Given the description of an element on the screen output the (x, y) to click on. 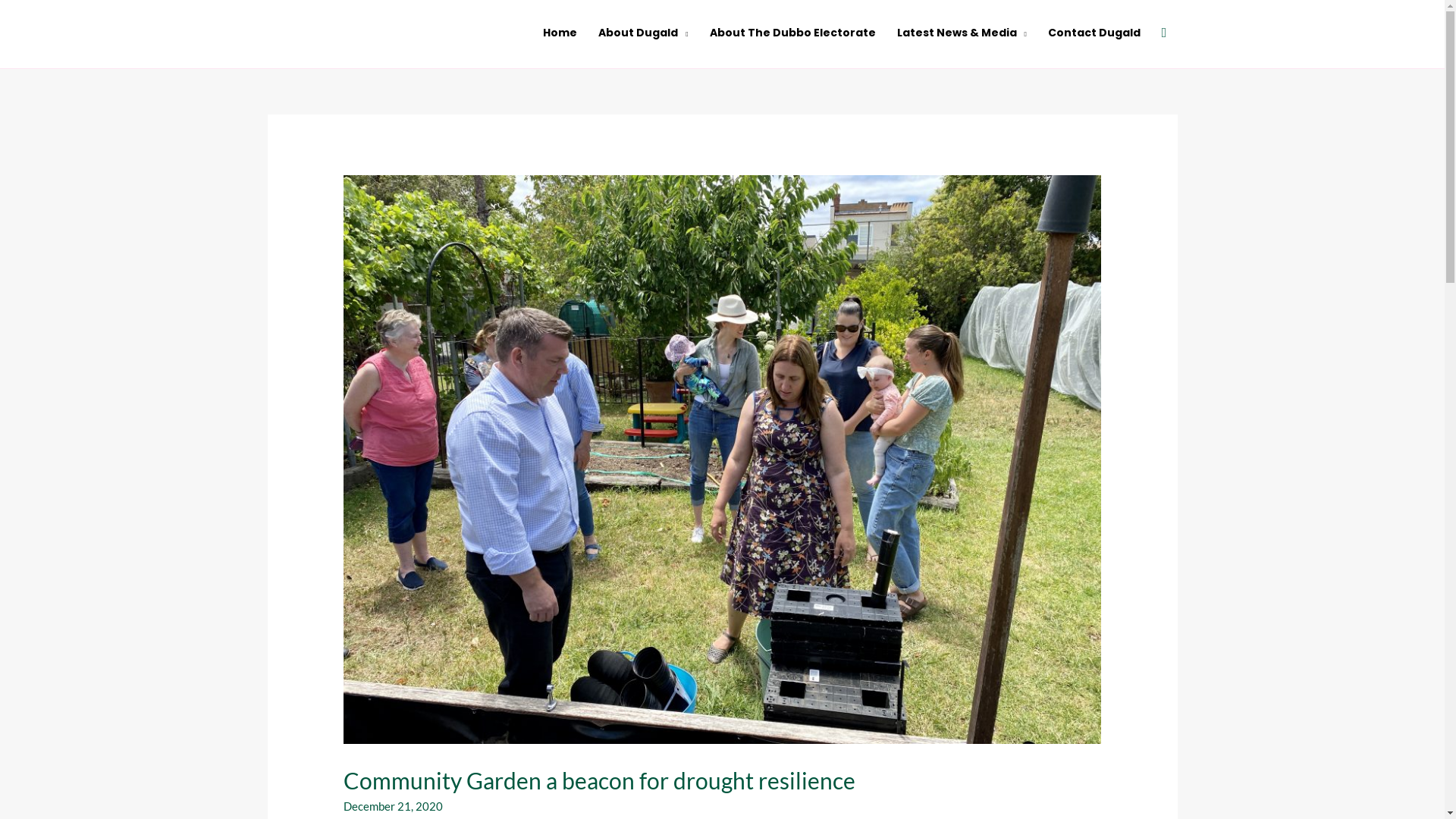
Latest News & Media Element type: text (961, 32)
Home Element type: text (559, 32)
Contact Dugald Element type: text (1094, 32)
Search Element type: text (1164, 32)
About Dugald Element type: text (642, 32)
About The Dubbo Electorate Element type: text (792, 32)
